Given the description of an element on the screen output the (x, y) to click on. 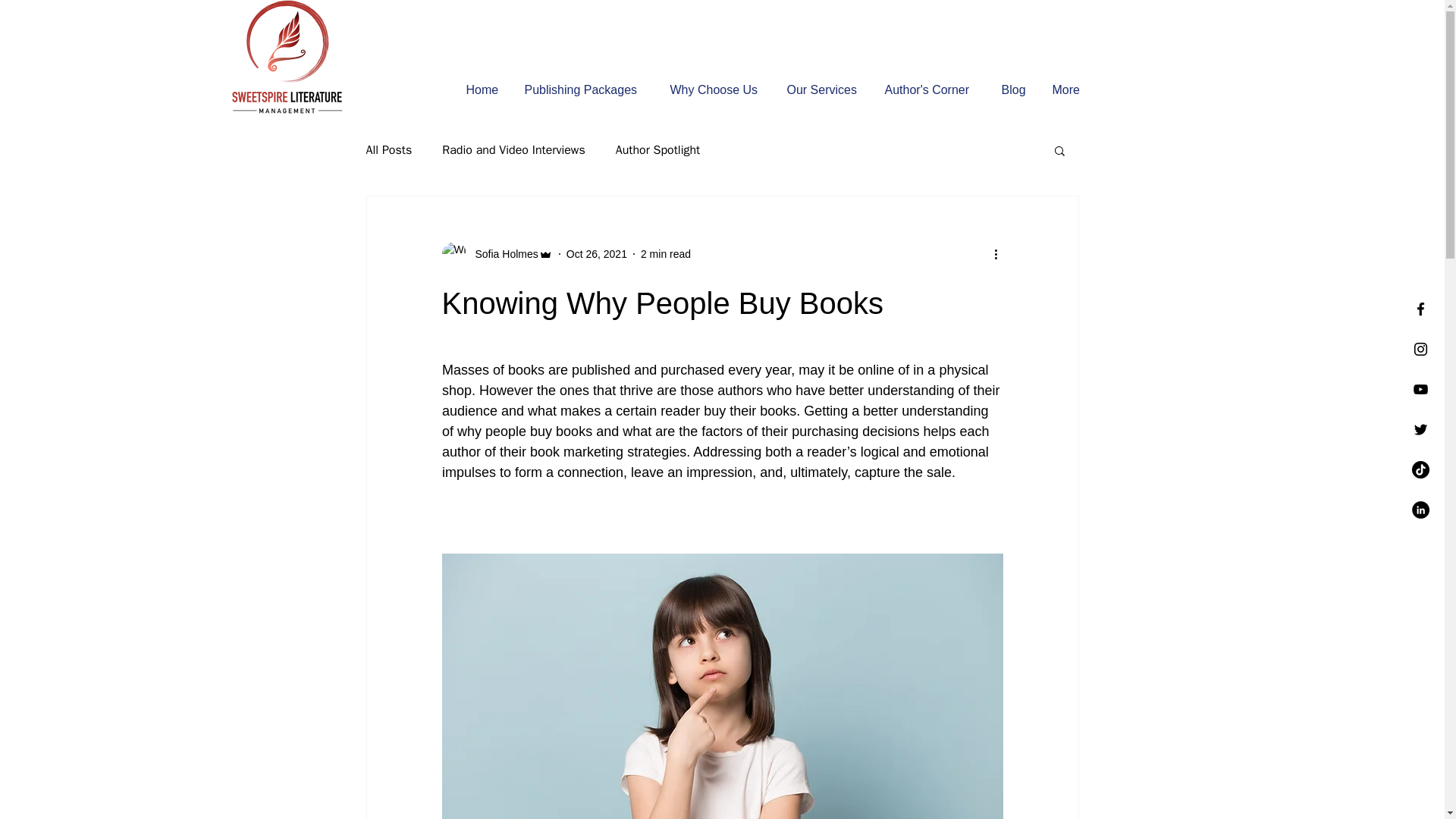
Home (483, 89)
All Posts (388, 150)
Why Choose Us (716, 89)
Publishing Packages (585, 89)
2 min read (665, 253)
Author Spotlight (657, 150)
Sofia Holmes (496, 253)
Blog (1015, 89)
Sofia Holmes (501, 253)
Author's Corner (931, 89)
